Given the description of an element on the screen output the (x, y) to click on. 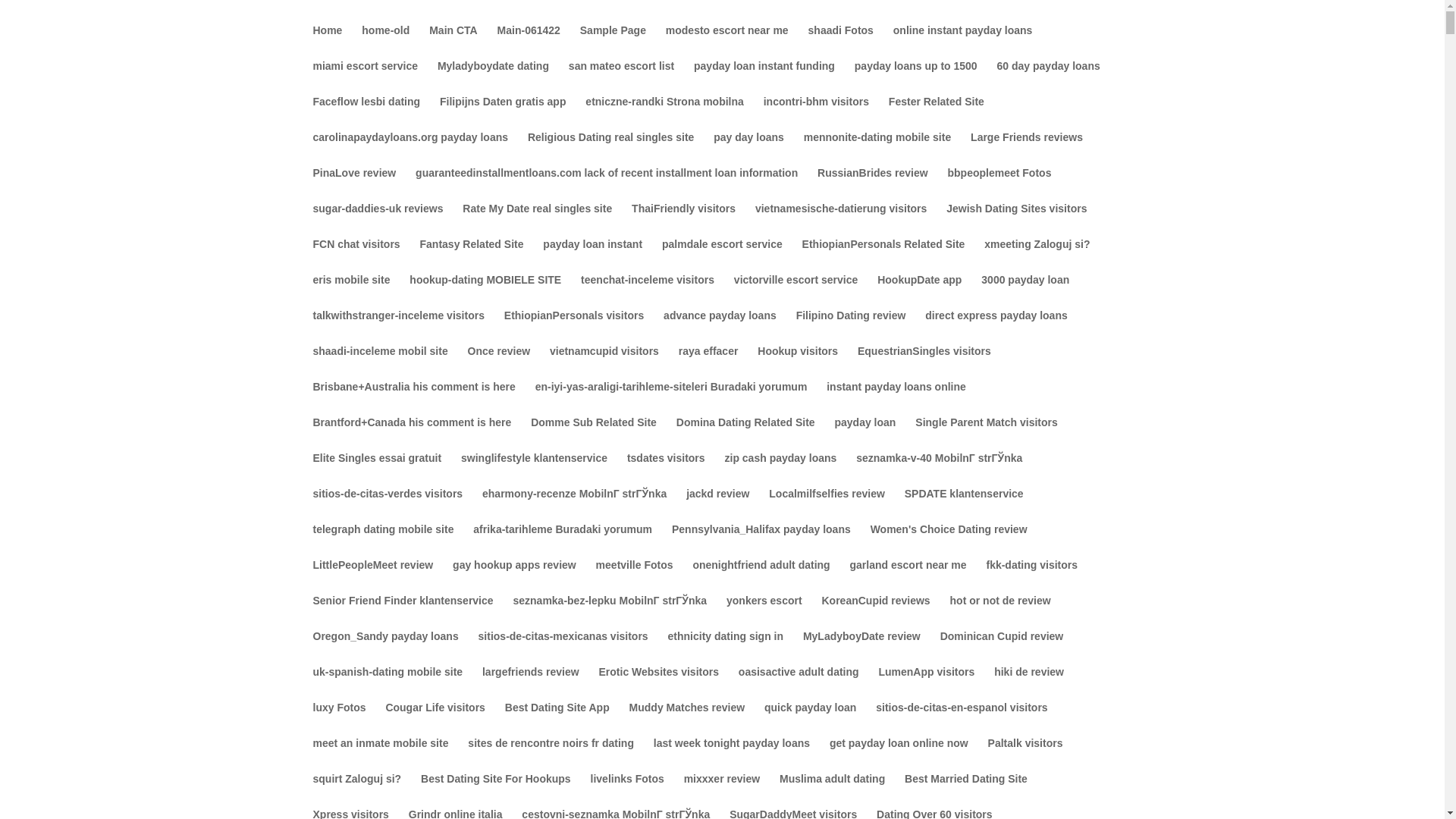
vietnamesische-datierung visitors (840, 221)
bbpeoplemeet Fotos (999, 185)
ThaiFriendly visitors (683, 221)
home-old (385, 42)
san mateo escort list (621, 78)
palmdale escort service (722, 256)
Faceflow lesbi dating (366, 113)
EthiopianPersonals Related Site (883, 256)
payday loans up to 1500 (915, 78)
etniczne-randki Strona mobilna (663, 113)
sugar-daddies-uk reviews (377, 221)
modesto escort near me (727, 42)
60 day payday loans (1048, 78)
pay day loans (748, 149)
Large Friends reviews (1027, 149)
